Given the description of an element on the screen output the (x, y) to click on. 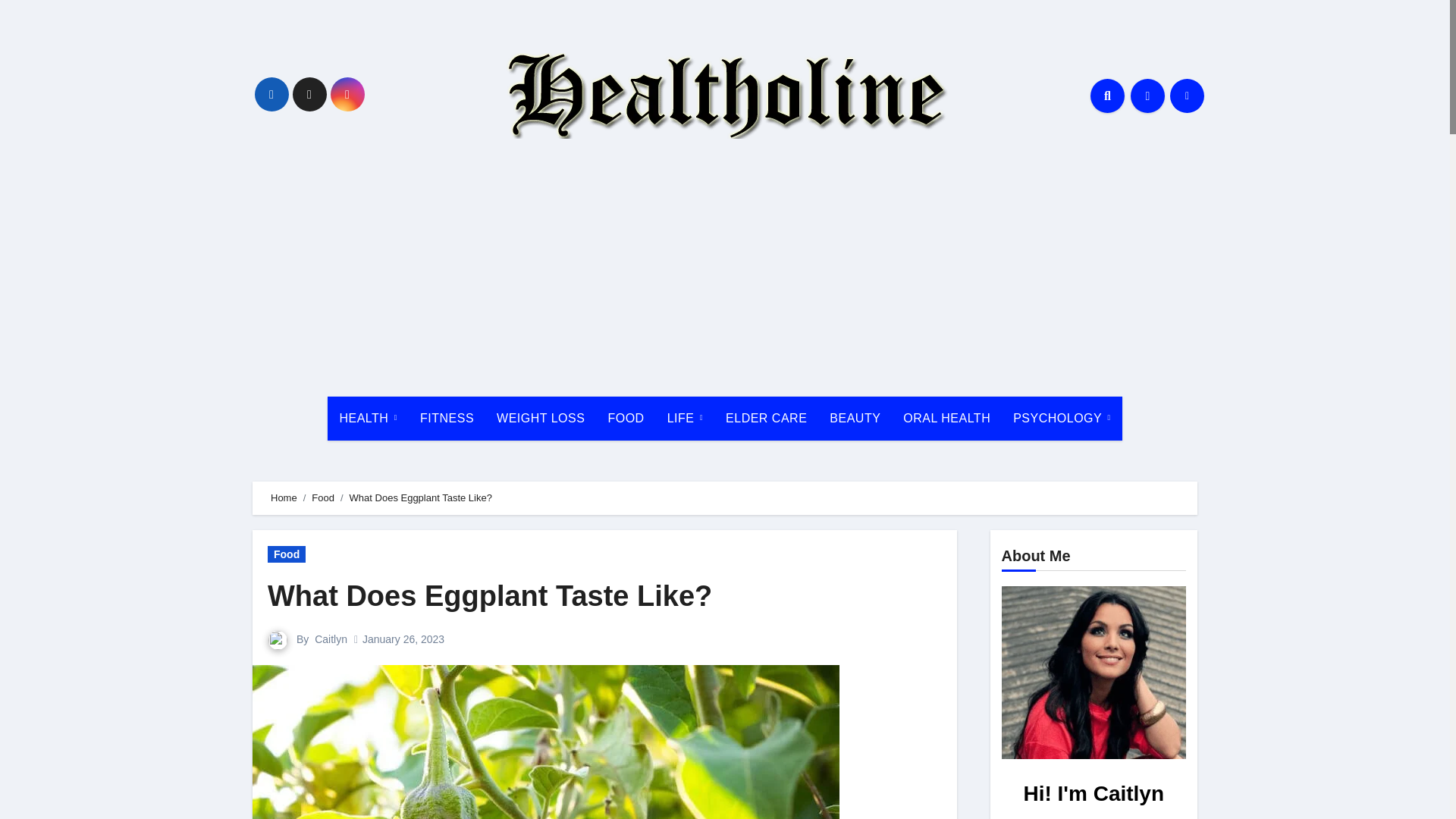
BEAUTY (854, 418)
January 26, 2023 (403, 639)
Home (283, 497)
Food (286, 554)
Food (322, 497)
What Does Eggplant Taste Like? (489, 595)
Caitlyn (330, 639)
ELDER CARE (766, 418)
PSYCHOLOGY (1061, 418)
